Given the description of an element on the screen output the (x, y) to click on. 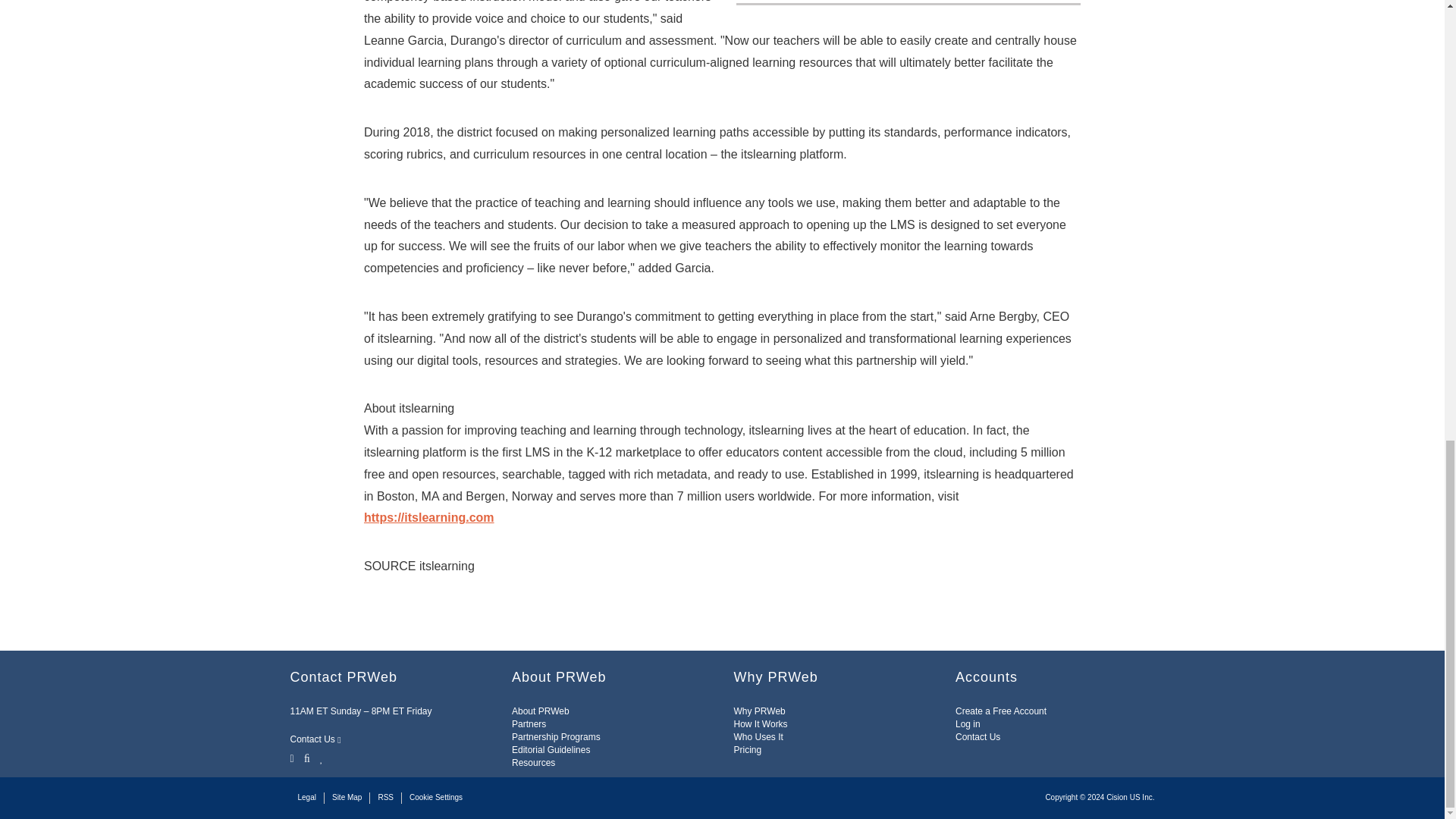
How It Works (760, 724)
Editorial Guidelines (550, 749)
Resources (533, 762)
Facebook (306, 757)
Who Uses It (758, 737)
Why PRWeb (759, 710)
Partnership Programs (555, 737)
Partners (529, 724)
About PRWeb (540, 710)
